Given the description of an element on the screen output the (x, y) to click on. 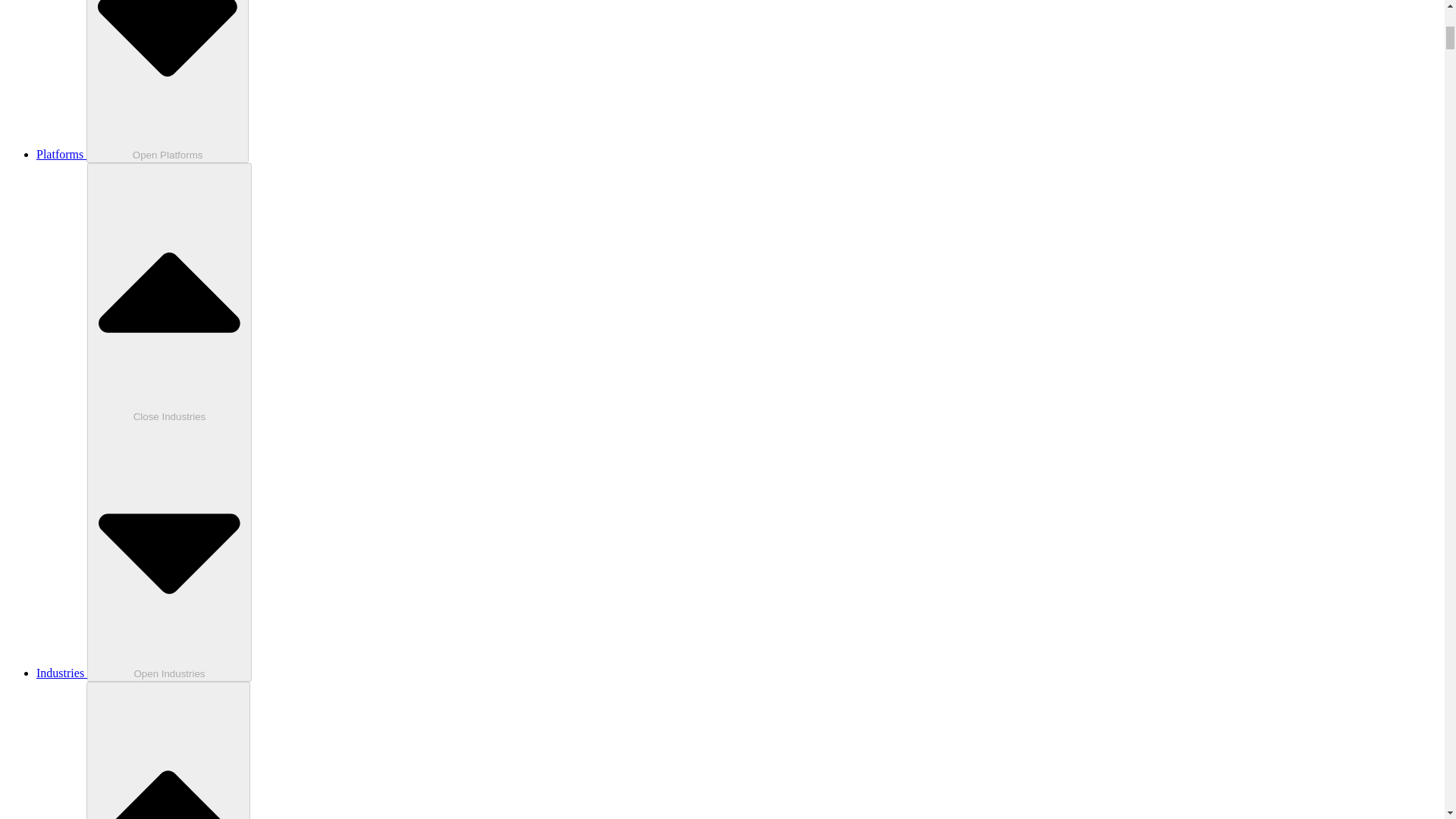
Close Company Open Company (166, 750)
Close Industries Open Industries (169, 421)
Platforms (60, 154)
Close Platforms Open Platforms (166, 81)
Industries (61, 672)
